Given the description of an element on the screen output the (x, y) to click on. 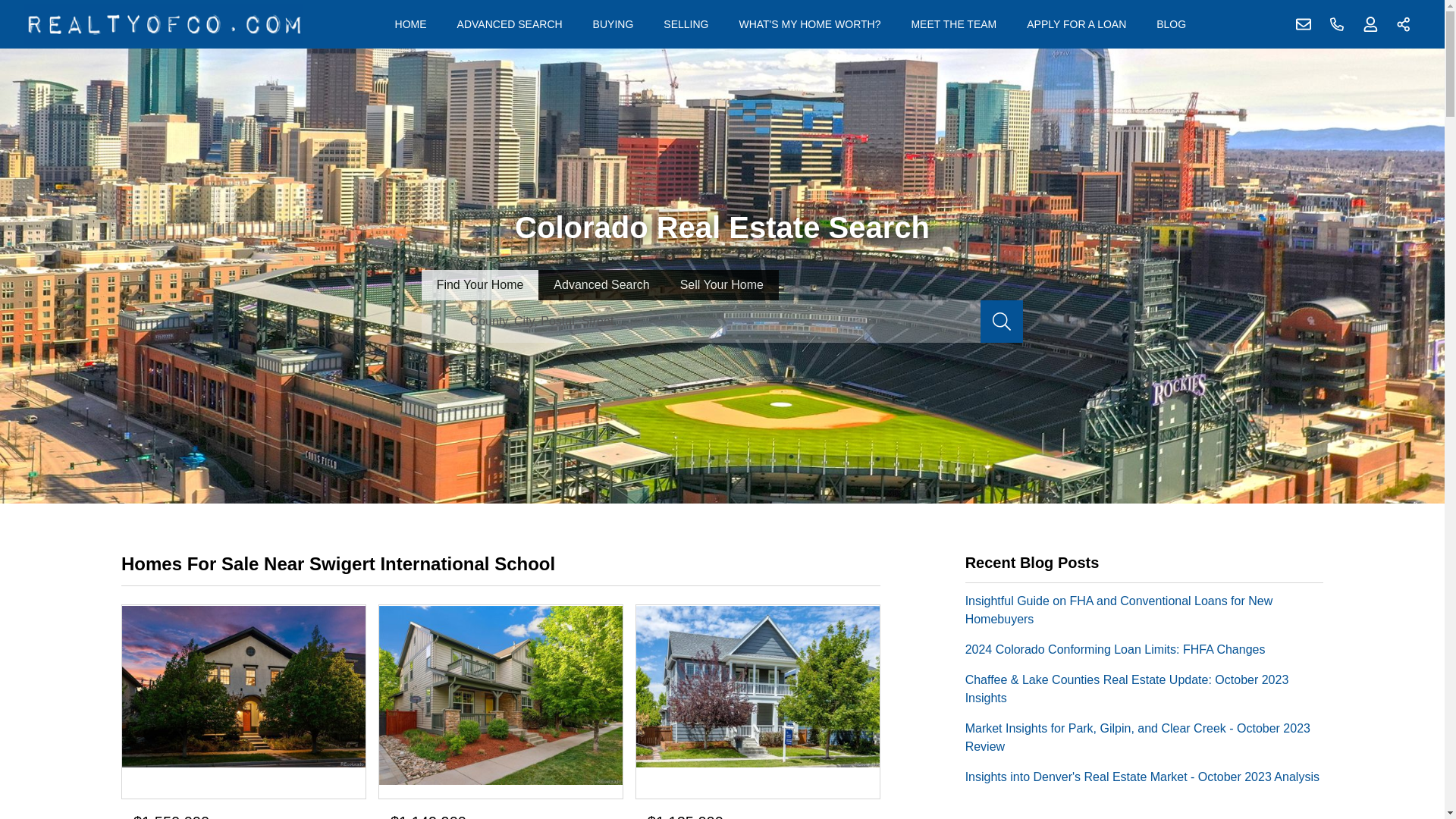
APPLY FOR A LOAN (1076, 24)
ADVANCED SEARCH (510, 24)
SELLING (685, 24)
WHAT'S MY HOME WORTH? (809, 24)
BLOG (1171, 24)
Sign up or Sign in (1370, 23)
Phone number (1337, 23)
Share (1404, 23)
Contact us (1303, 23)
MEET THE TEAM (953, 24)
